Given the description of an element on the screen output the (x, y) to click on. 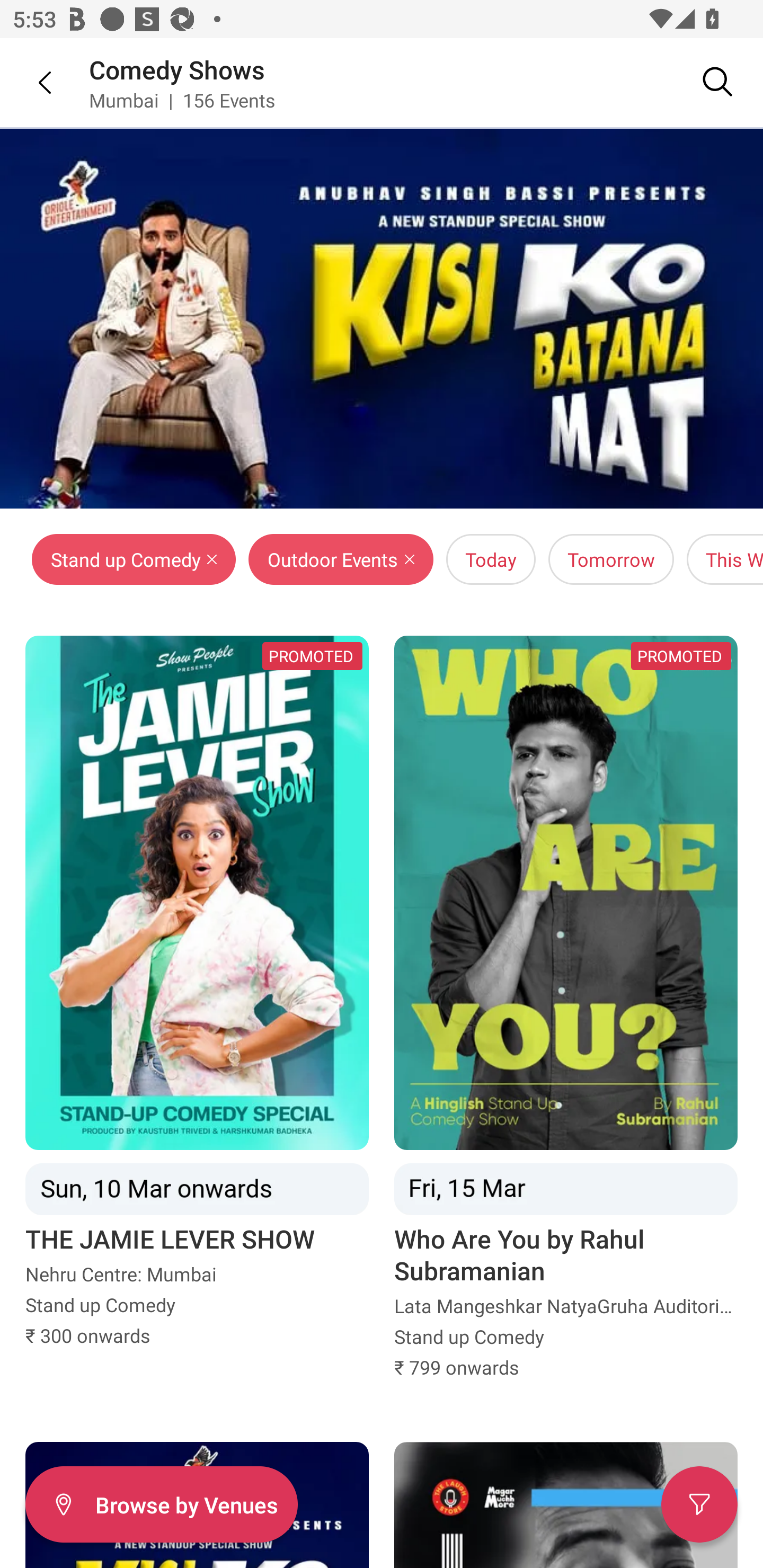
Back (31, 82)
Comedy Shows (176, 68)
Mumbai  |  156 Events (182, 99)
Stand up Comedy Close (133, 559)
Outdoor Events Close (340, 559)
Today (490, 559)
Tomorrow (610, 559)
Filter Browse by Venues (161, 1504)
Filter (699, 1504)
